Given the description of an element on the screen output the (x, y) to click on. 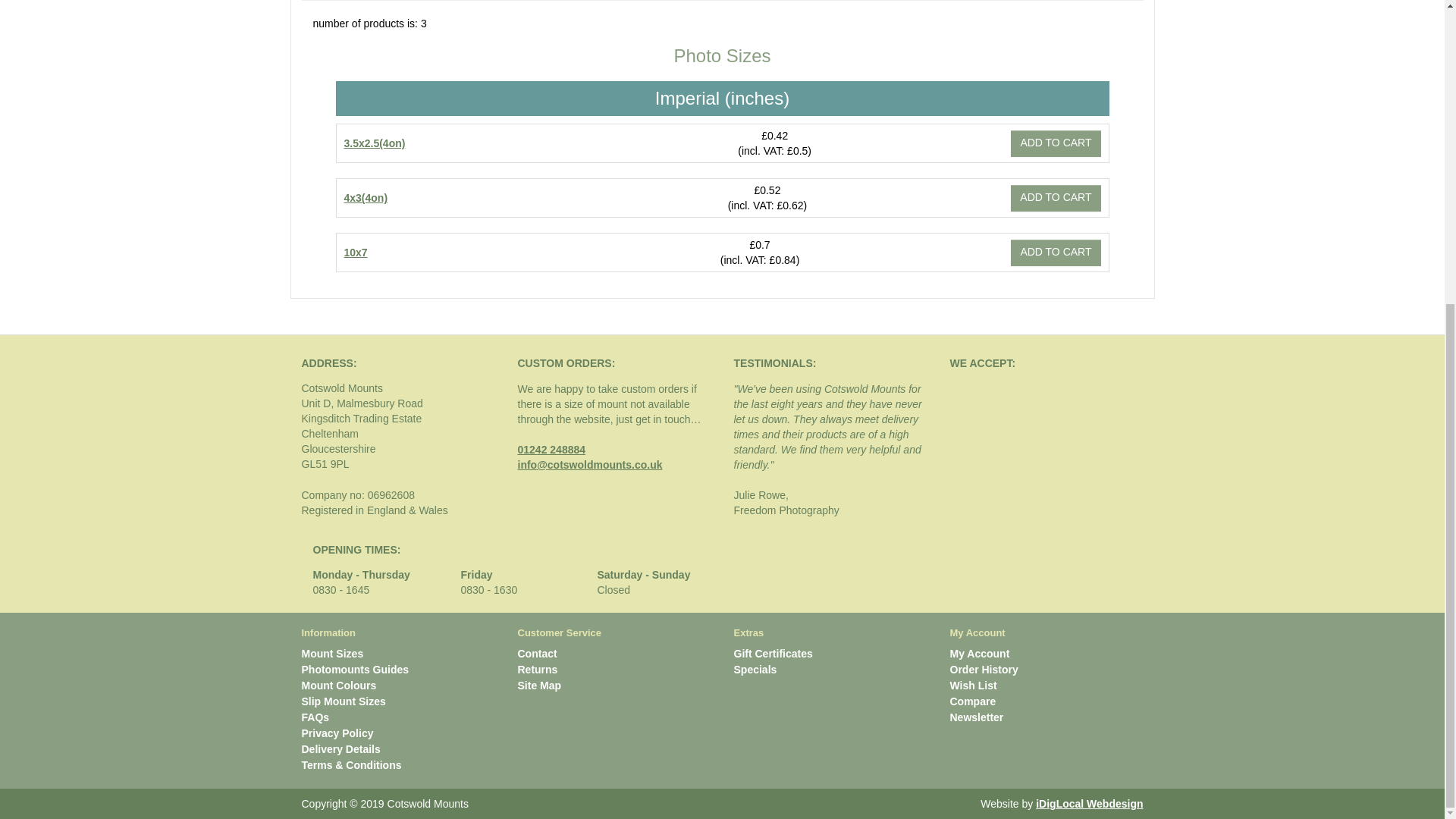
contact cotswold mounts (536, 653)
ADD TO CART (1055, 143)
